Given the description of an element on the screen output the (x, y) to click on. 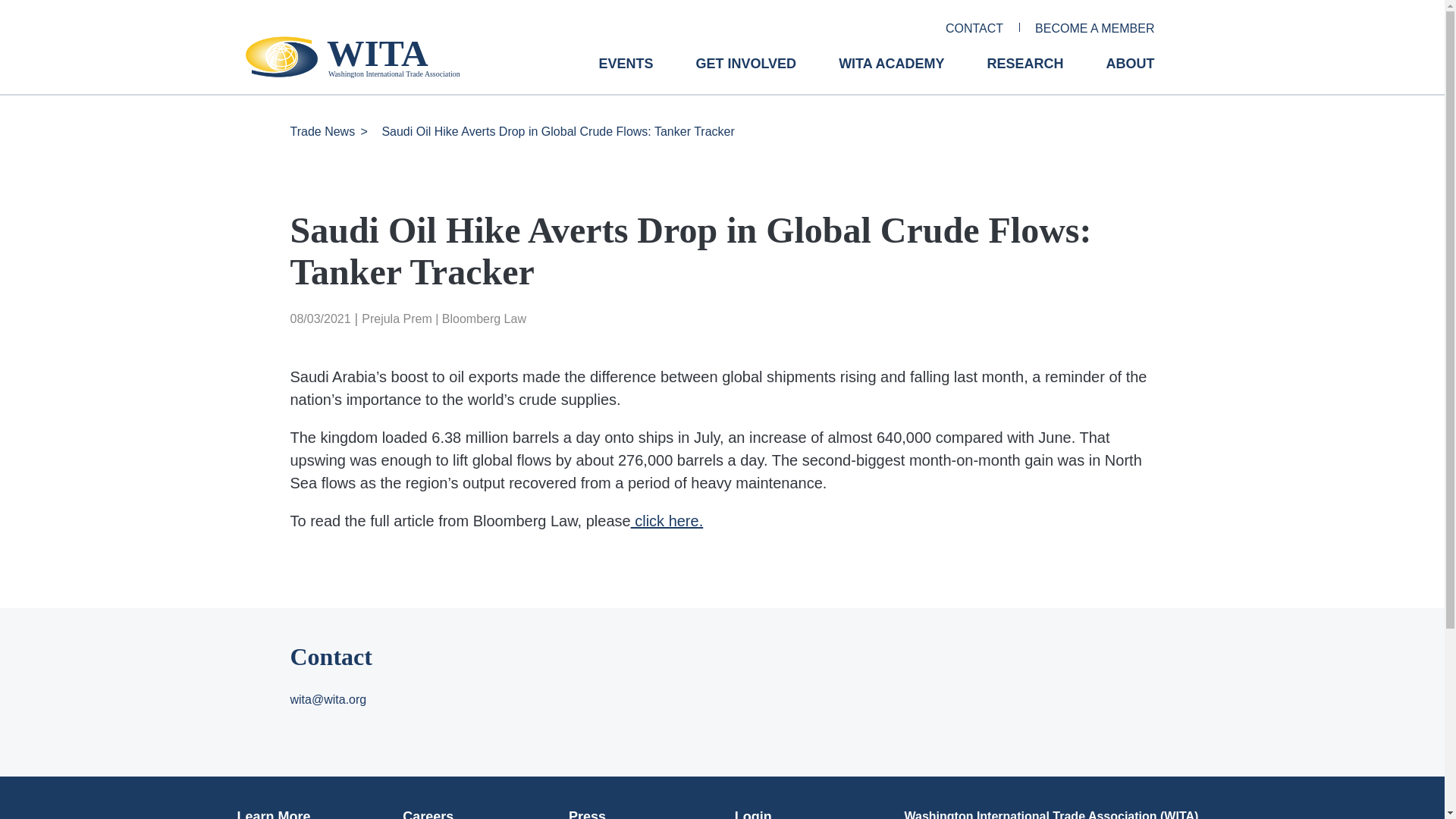
Search (19, 6)
EVENTS (625, 75)
ABOUT (1129, 75)
BECOME A MEMBER (1094, 28)
click here. (666, 520)
RESEARCH (1024, 75)
Trade News (322, 131)
WITA ACADEMY (890, 75)
CONTACT (973, 28)
GET INVOLVED (745, 75)
